Given the description of an element on the screen output the (x, y) to click on. 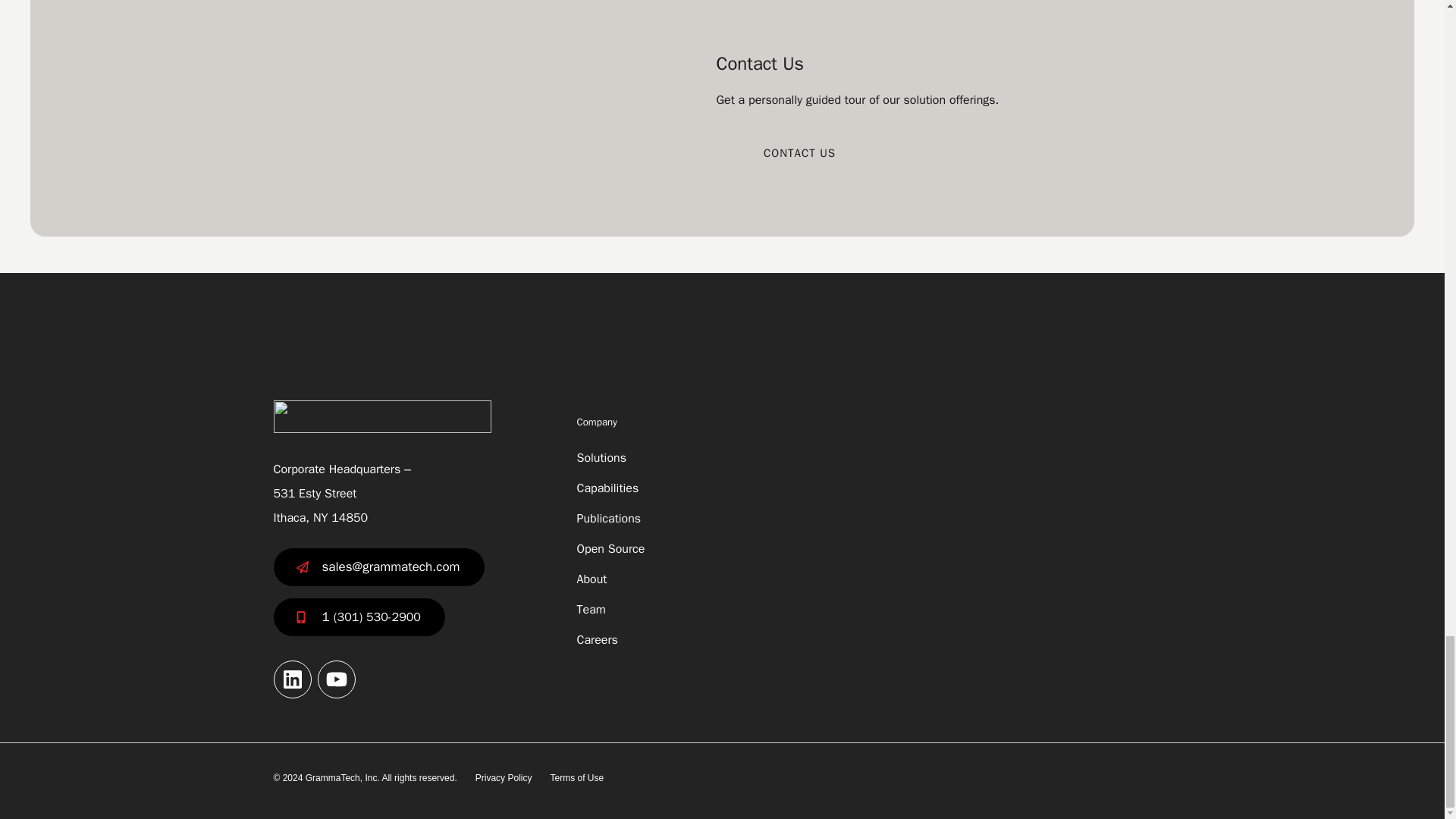
CONTACT US (799, 153)
